Given the description of an element on the screen output the (x, y) to click on. 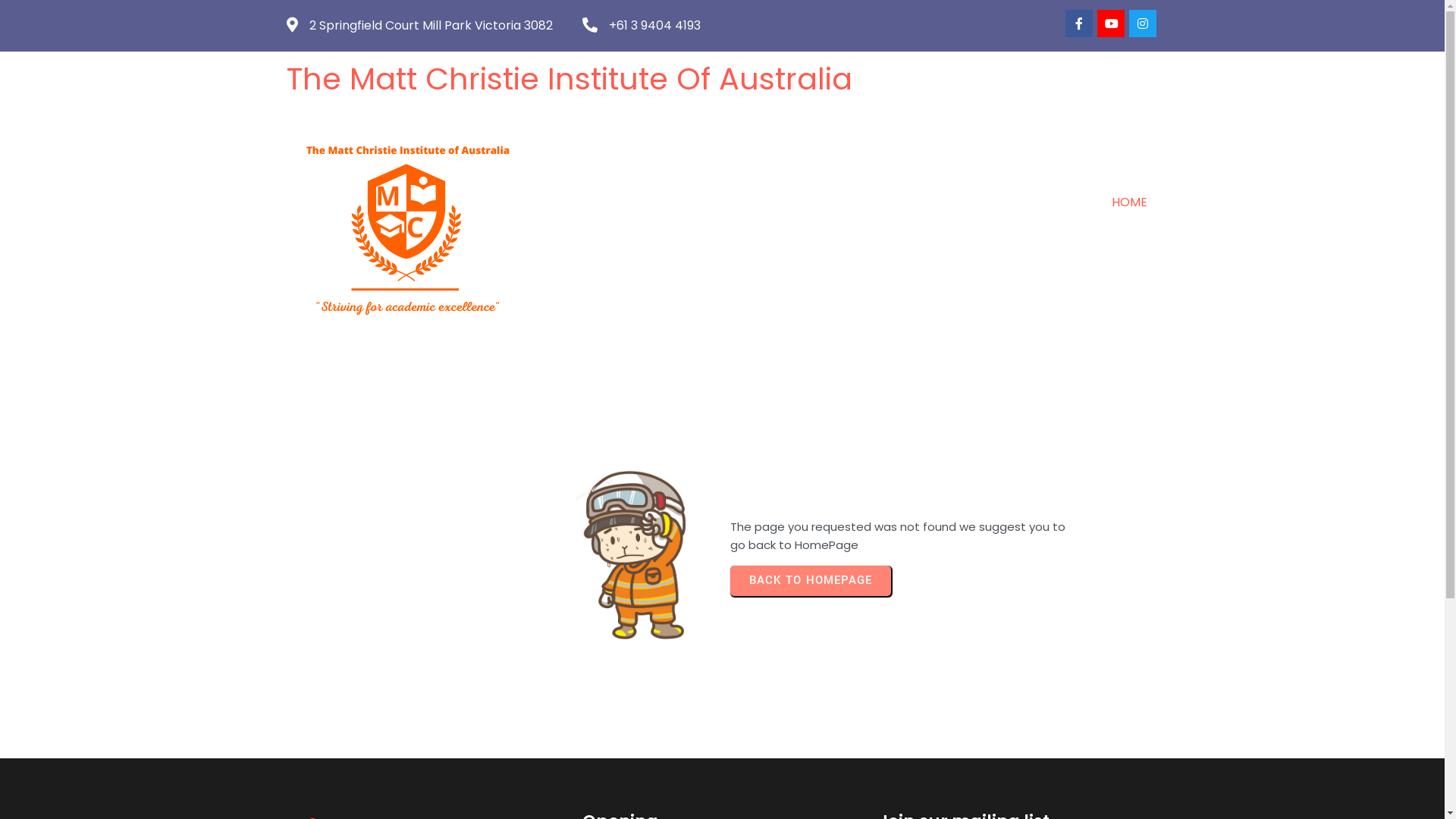
HOME Element type: text (1129, 202)
313x313 Logo Clear Background Element type: hover (405, 228)
BACK TO HOMEPAGE Element type: text (809, 580)
The Matt Christie Institute Of Australia Element type: text (636, 78)
